Given the description of an element on the screen output the (x, y) to click on. 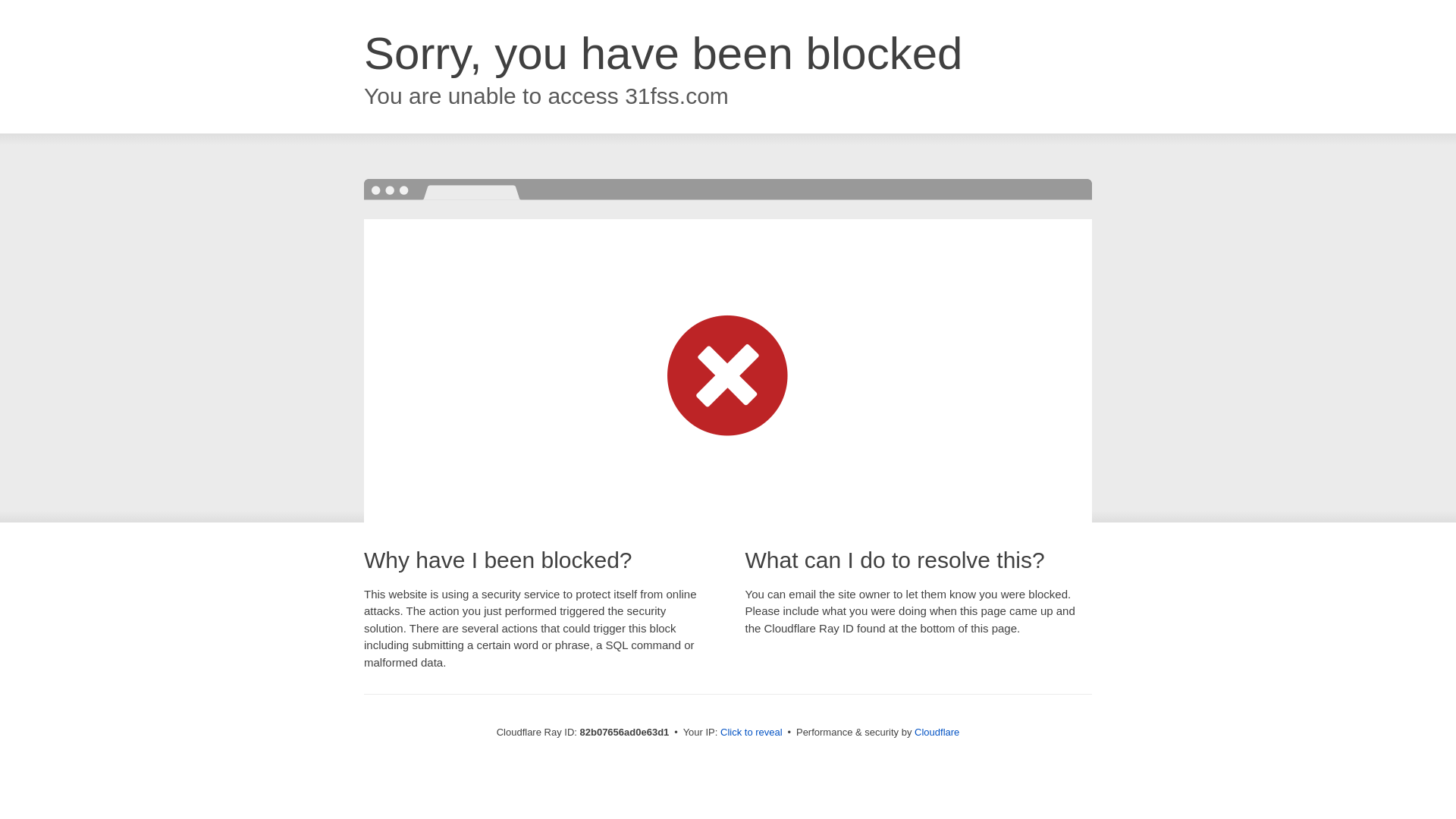
Click to reveal Element type: text (751, 732)
Cloudflare Element type: text (936, 731)
